Given the description of an element on the screen output the (x, y) to click on. 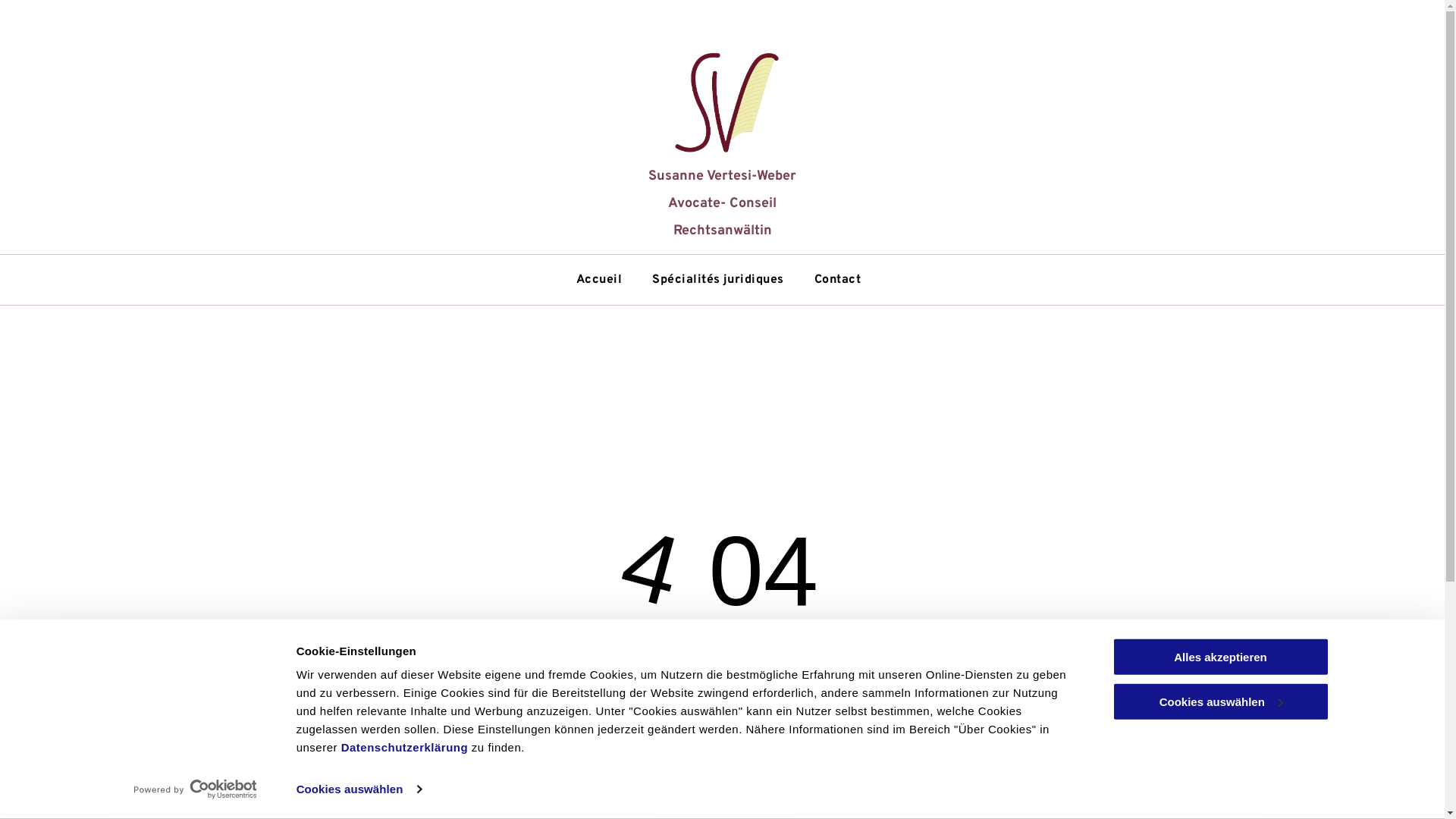
Alles akzeptieren Element type: text (1219, 656)
Contact Element type: text (837, 279)
Accueil Element type: text (598, 279)
